Given the description of an element on the screen output the (x, y) to click on. 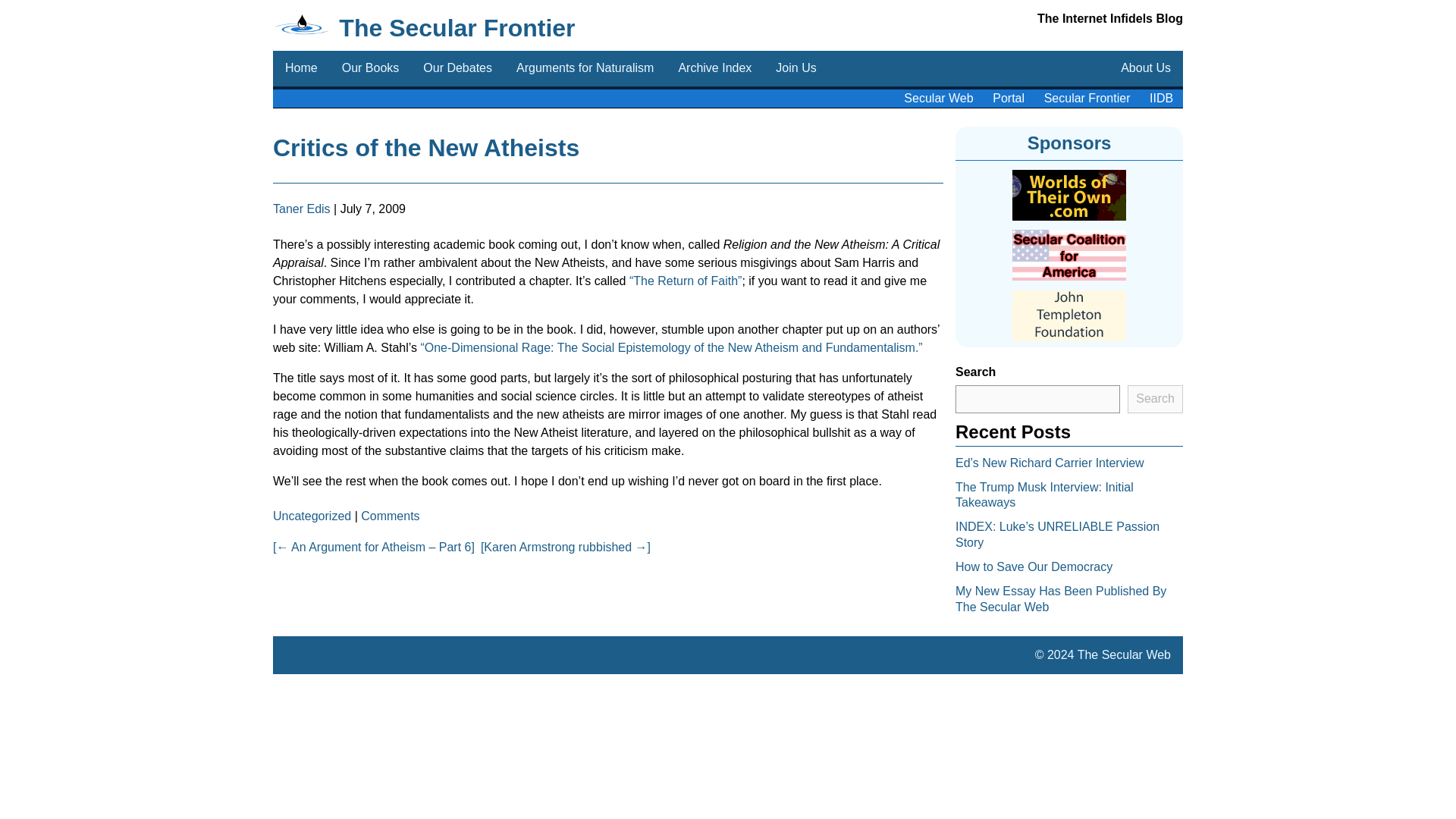
Search (1154, 398)
Uncategorized (311, 515)
Portal (1007, 98)
Critics of the New Atheists (426, 147)
Sponsors (1069, 142)
About Us (1145, 67)
Our Debates (456, 67)
The Secular Frontier (457, 27)
Arguments for Naturalism (584, 67)
The Secular Frontier (457, 27)
